Given the description of an element on the screen output the (x, y) to click on. 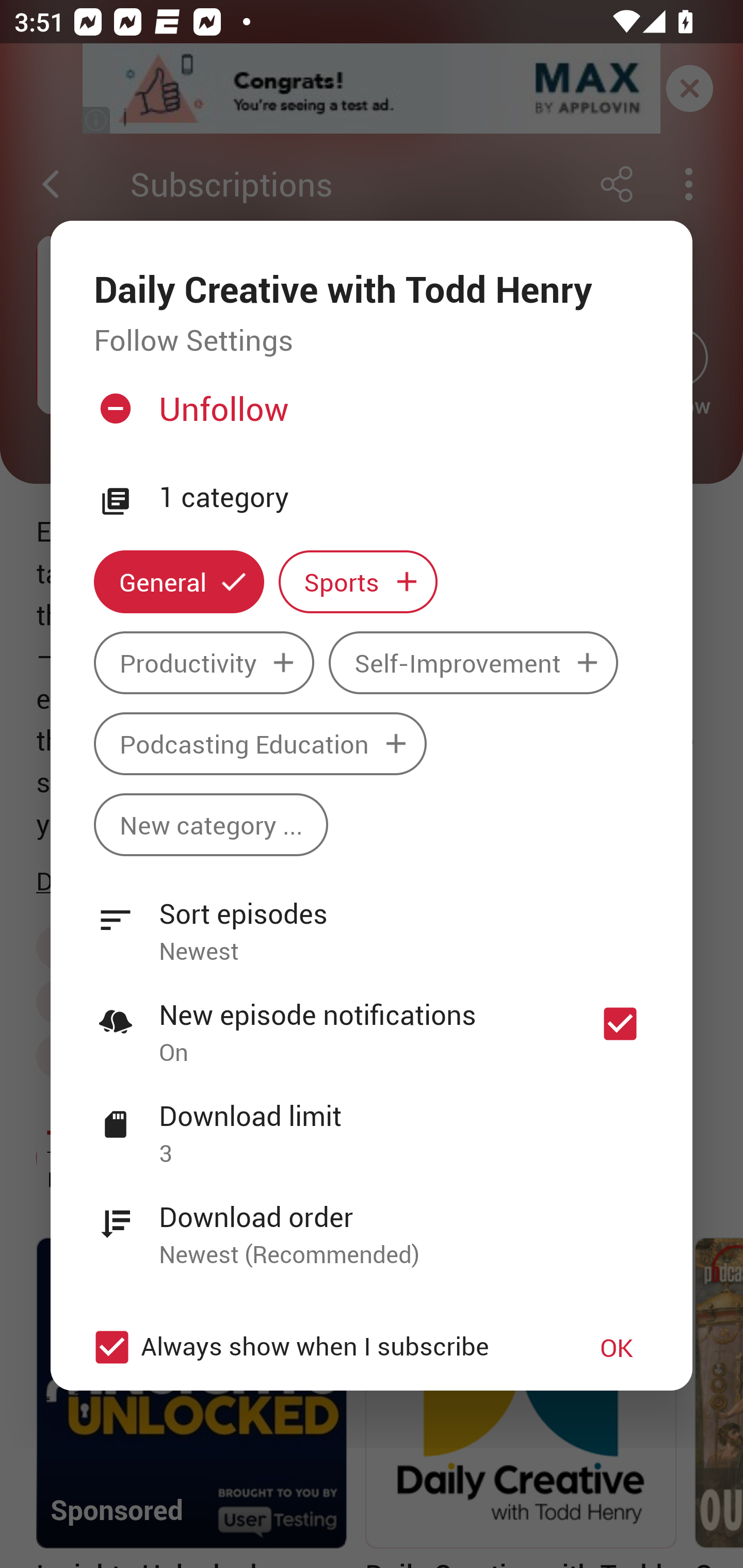
Unfollow (369, 417)
1 category (404, 497)
General (178, 581)
Sports (357, 581)
Productivity (203, 662)
Self-Improvement (473, 662)
Podcasting Education (259, 742)
New category ... (210, 824)
Sort episodes Newest (371, 921)
New episode notifications (620, 1023)
Download limit 3 (371, 1123)
Download order Newest (Recommended) (371, 1224)
OK (616, 1347)
Always show when I subscribe (320, 1347)
